Given the description of an element on the screen output the (x, y) to click on. 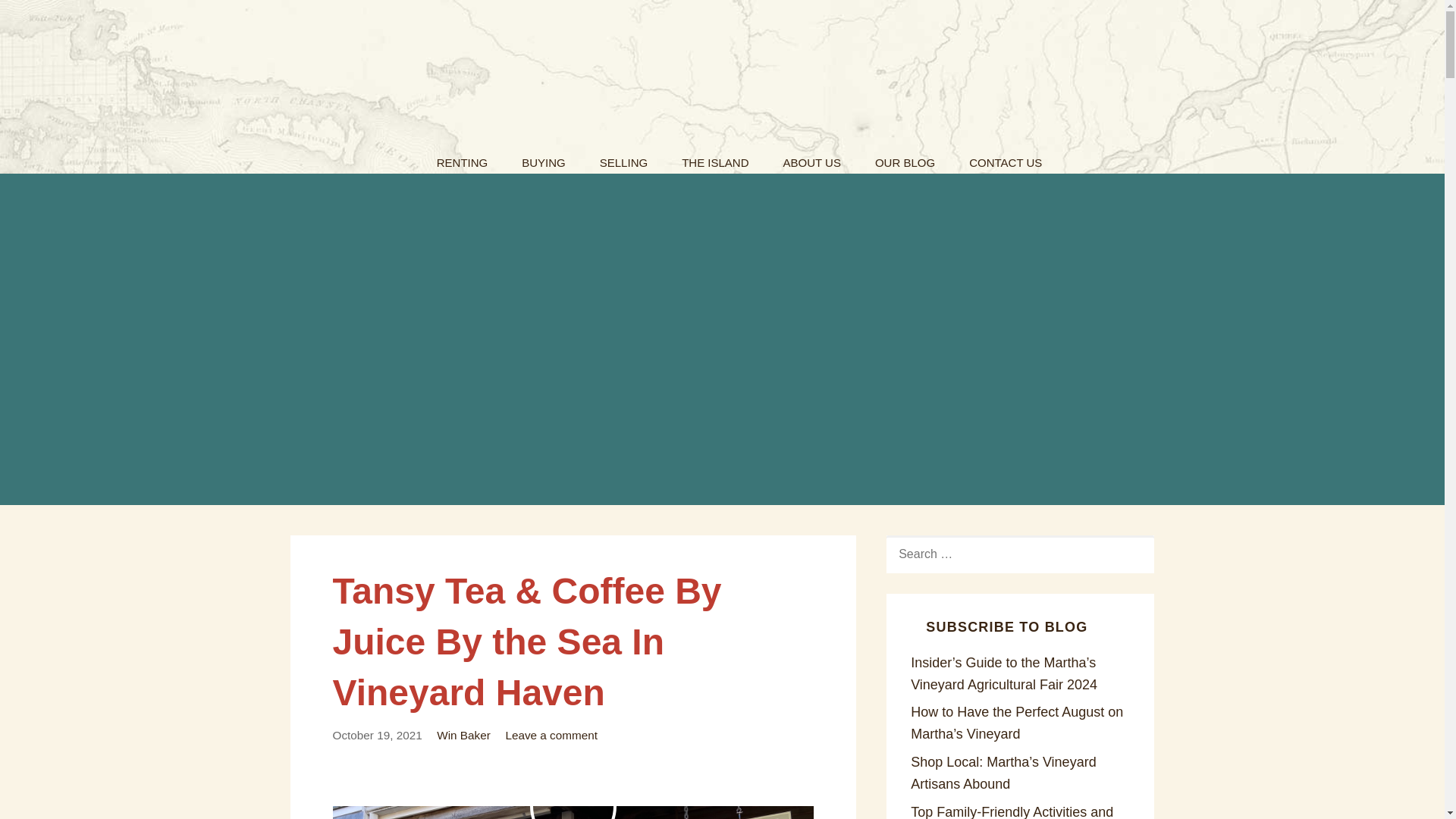
Win Baker (463, 735)
THE ISLAND (714, 157)
Leave a comment (550, 735)
OUR BLOG (905, 157)
RENTING (462, 157)
SELLING (623, 157)
CONTACT US (1005, 157)
Posts by Win Baker (463, 735)
BUYING (543, 157)
ABOUT US (812, 157)
